Given the description of an element on the screen output the (x, y) to click on. 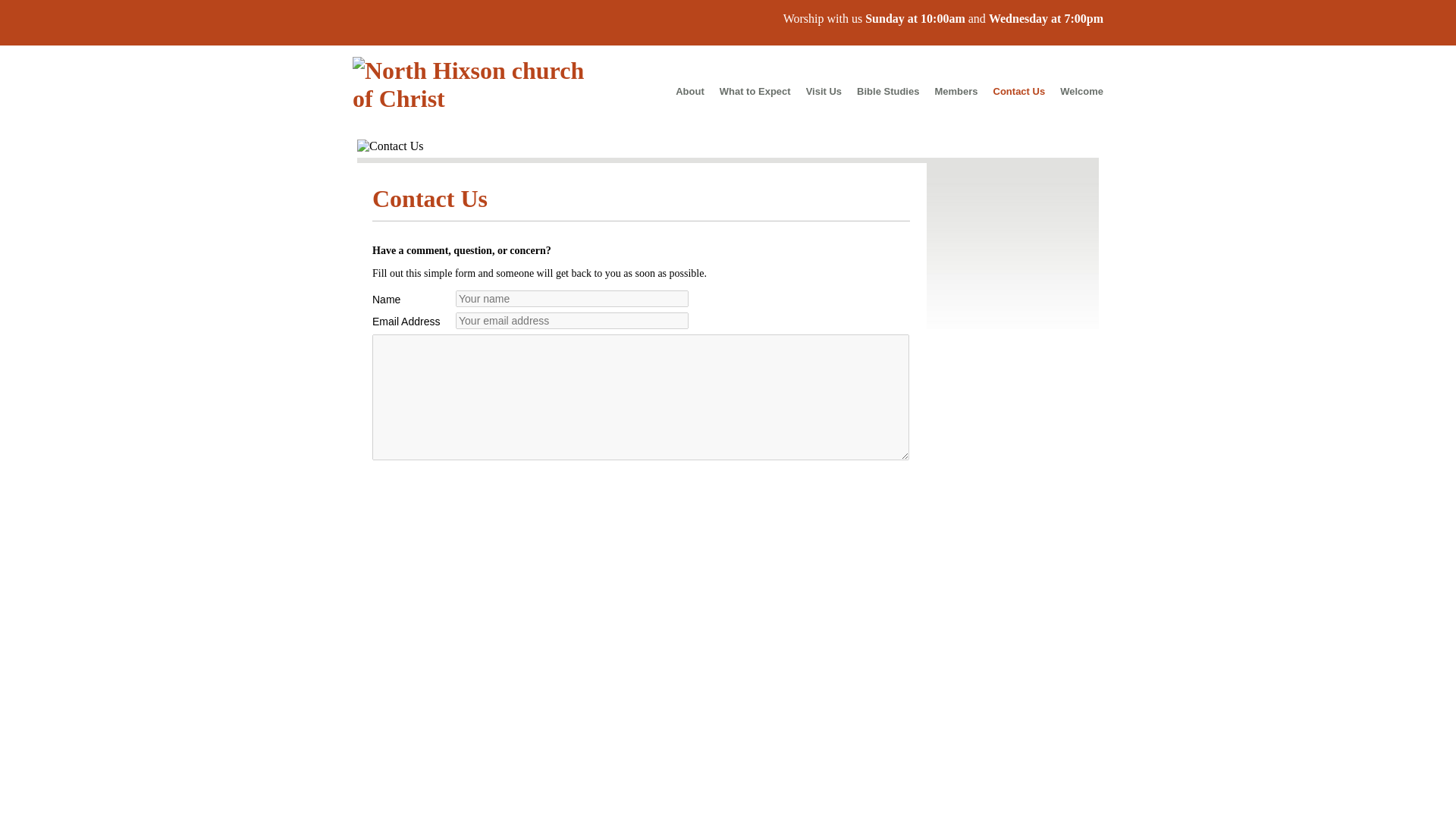
What to Expect (754, 91)
Contact Us (1018, 91)
Welcome (1077, 91)
About (689, 91)
Visit Us (822, 91)
Members (955, 91)
Bible Studies (887, 91)
